Given the description of an element on the screen output the (x, y) to click on. 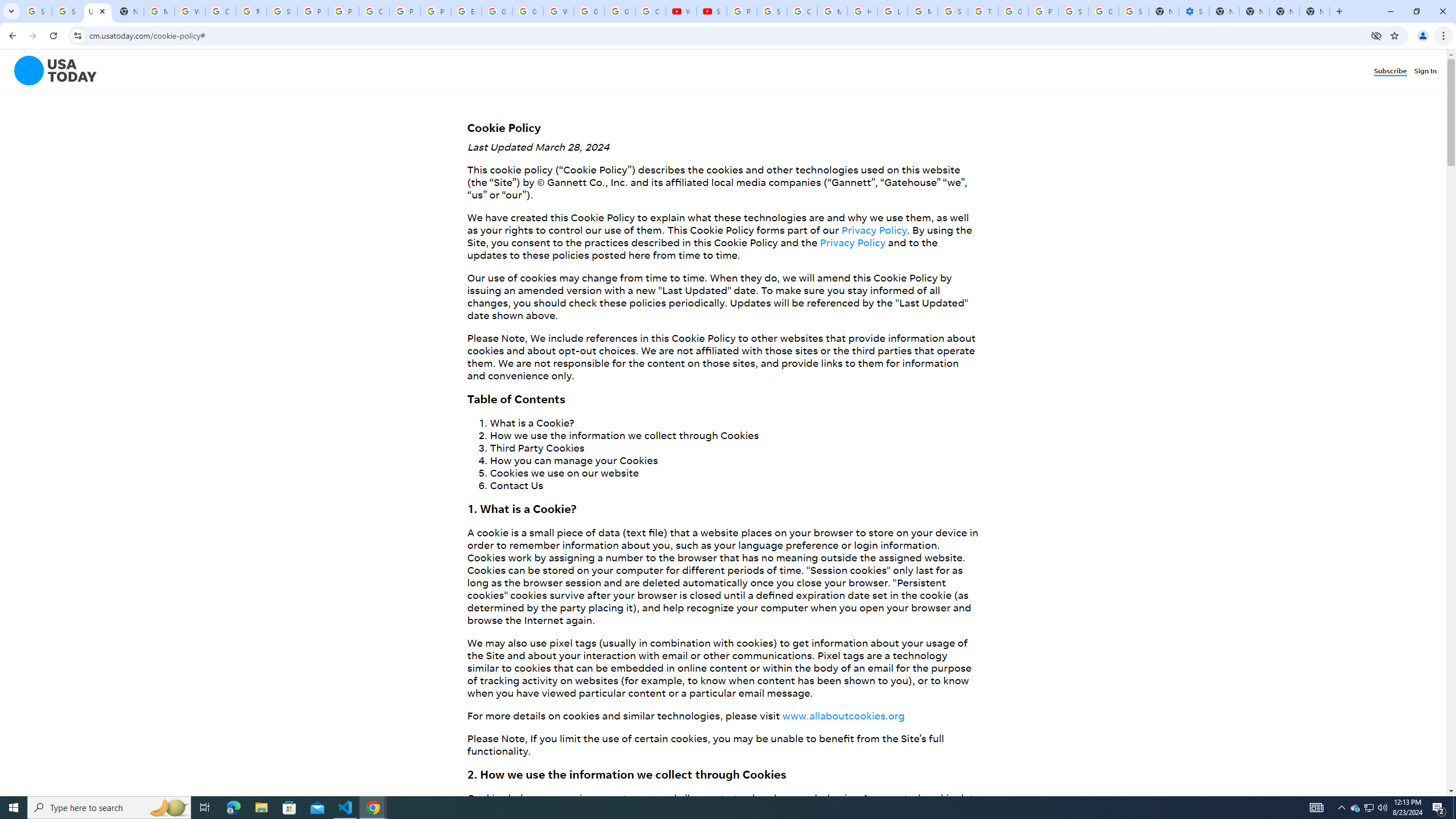
Sign in - Google Accounts (1072, 11)
Create your Google Account (373, 11)
Edit and view right-to-left text - Google Docs Editors Help (465, 11)
Google Slides: Sign-in (496, 11)
New Tab (1314, 11)
Google Ads - Sign in (1012, 11)
